Given the description of an element on the screen output the (x, y) to click on. 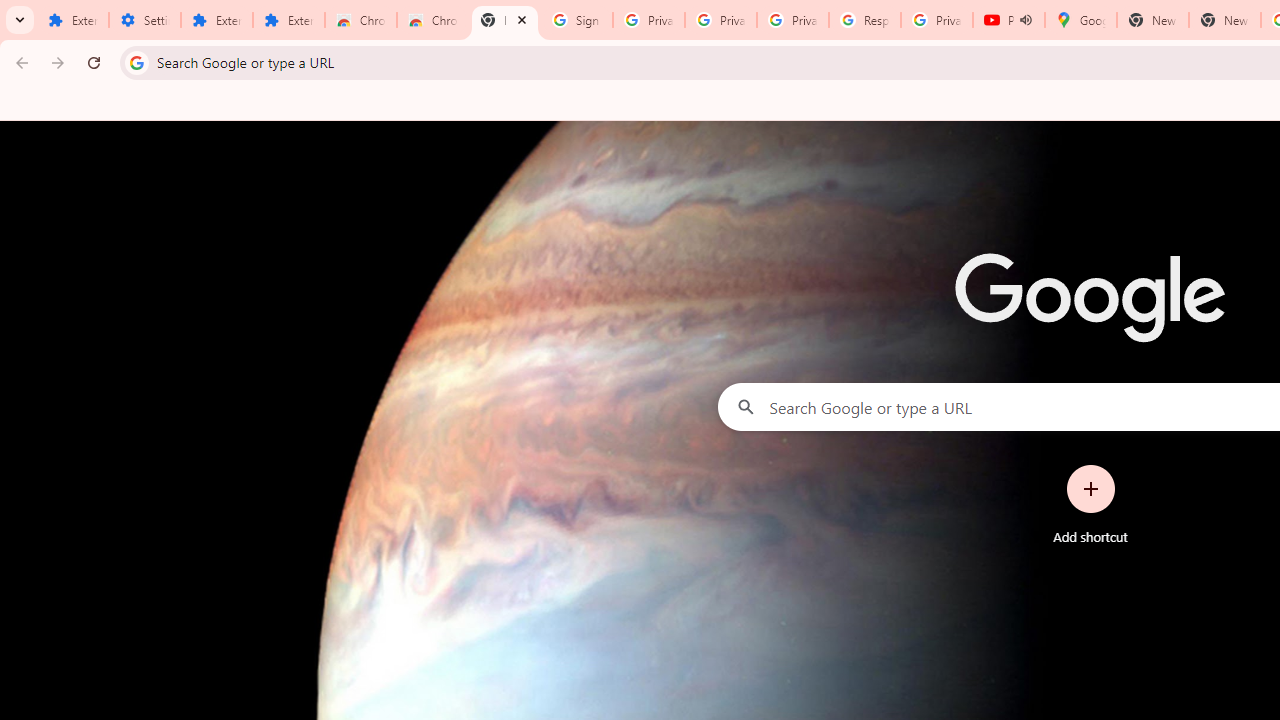
Extensions (289, 20)
New Tab (504, 20)
Settings (144, 20)
Sign in - Google Accounts (577, 20)
Add shortcut (1090, 504)
Mute tab (1025, 20)
Chrome Web Store (360, 20)
Chrome Web Store - Themes (432, 20)
